Given the description of an element on the screen output the (x, y) to click on. 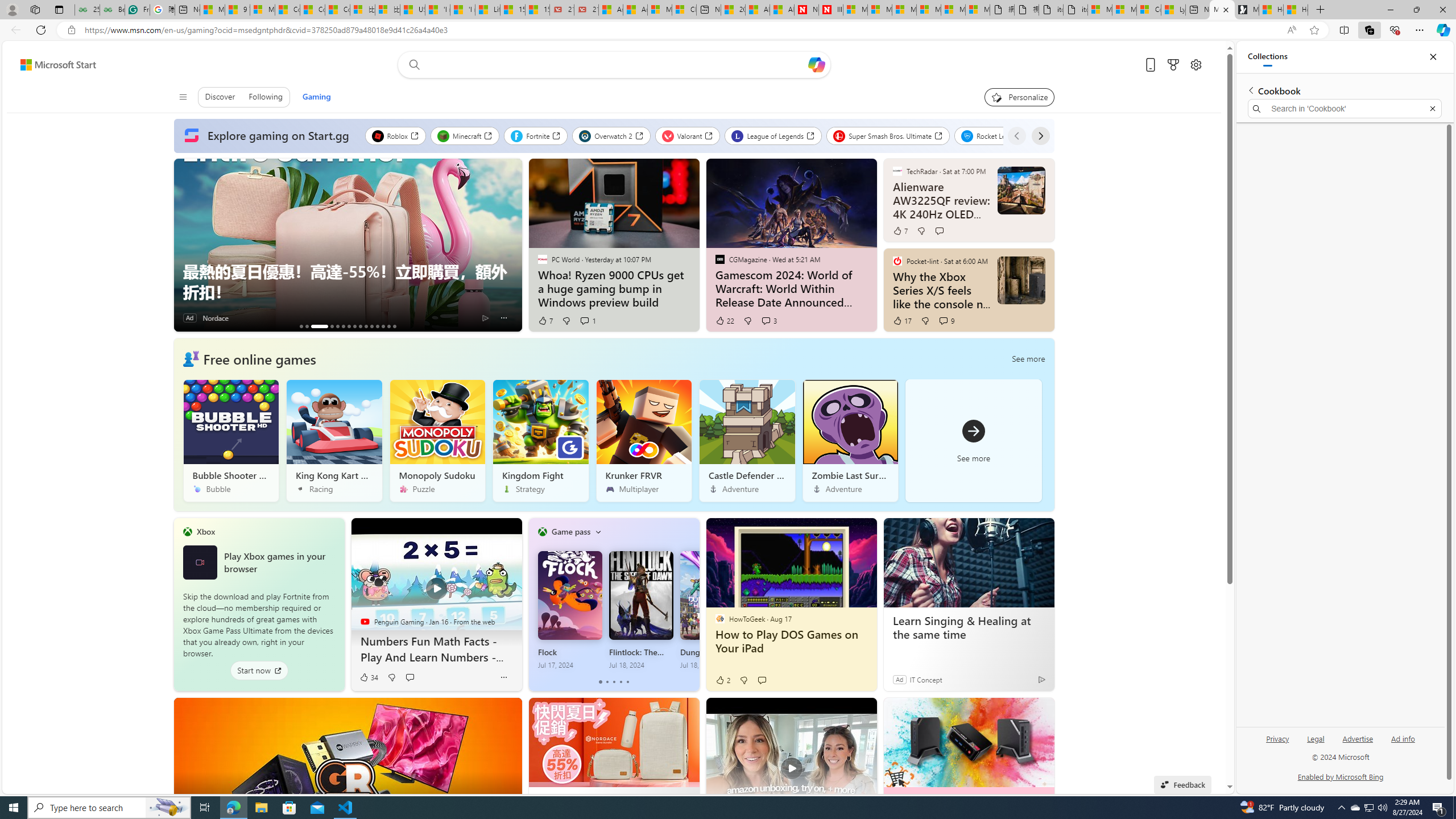
Following (265, 96)
Legal (1315, 738)
AutomationID: tab_nativead-infopane-3 (318, 326)
AutomationID: tab_nativead-infopane-11 (371, 326)
Free online games See more (613, 424)
Skip to content (53, 64)
How Shein Is Revolutionizing The Fashion Industry? (336, 326)
Super Smash Bros. Ultimate (888, 135)
